Given the description of an element on the screen output the (x, y) to click on. 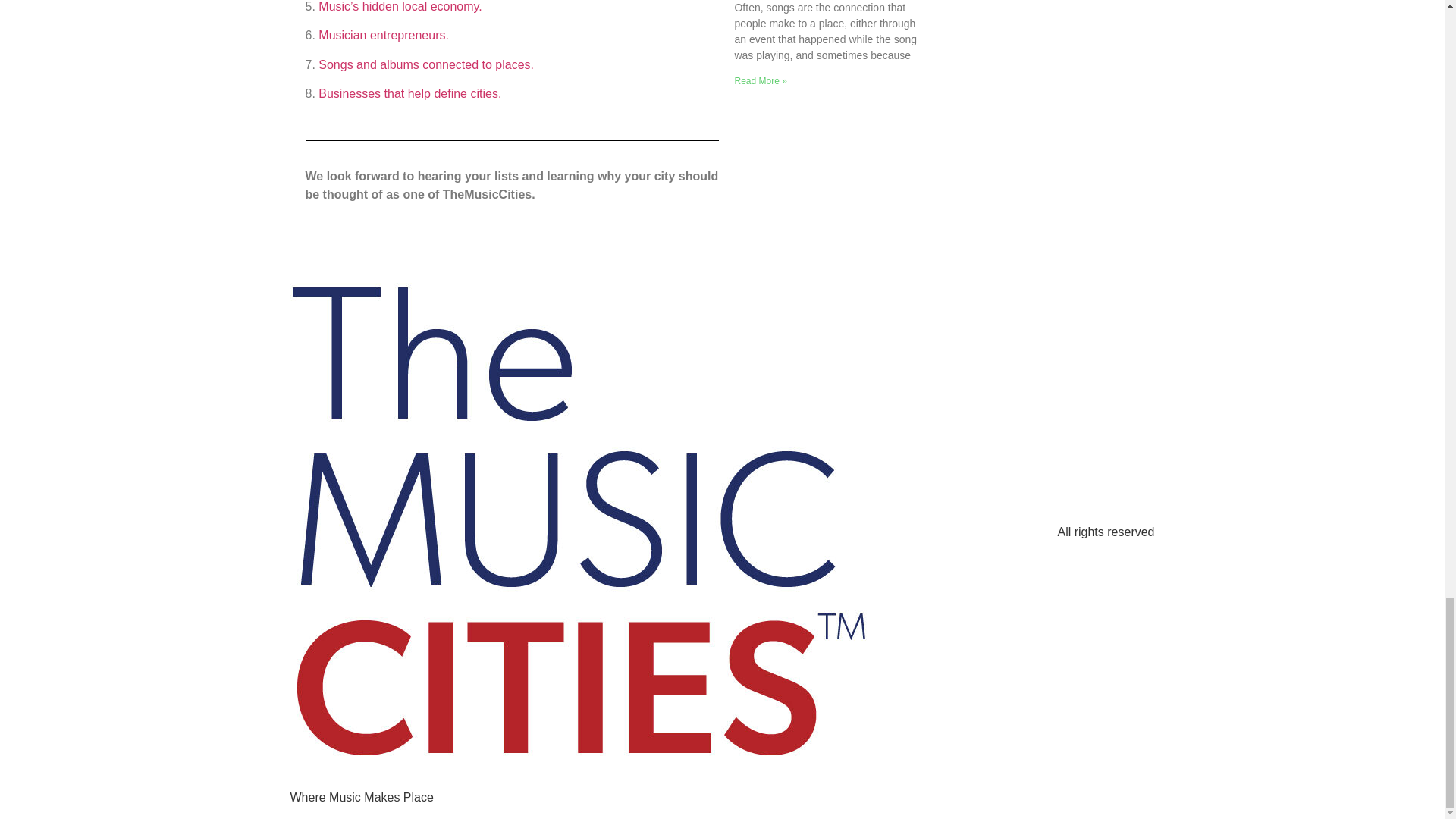
Businesses that help define cities. (409, 92)
Musician entrepreneurs. (383, 34)
Songs and albums connected to places. (426, 64)
